Given the description of an element on the screen output the (x, y) to click on. 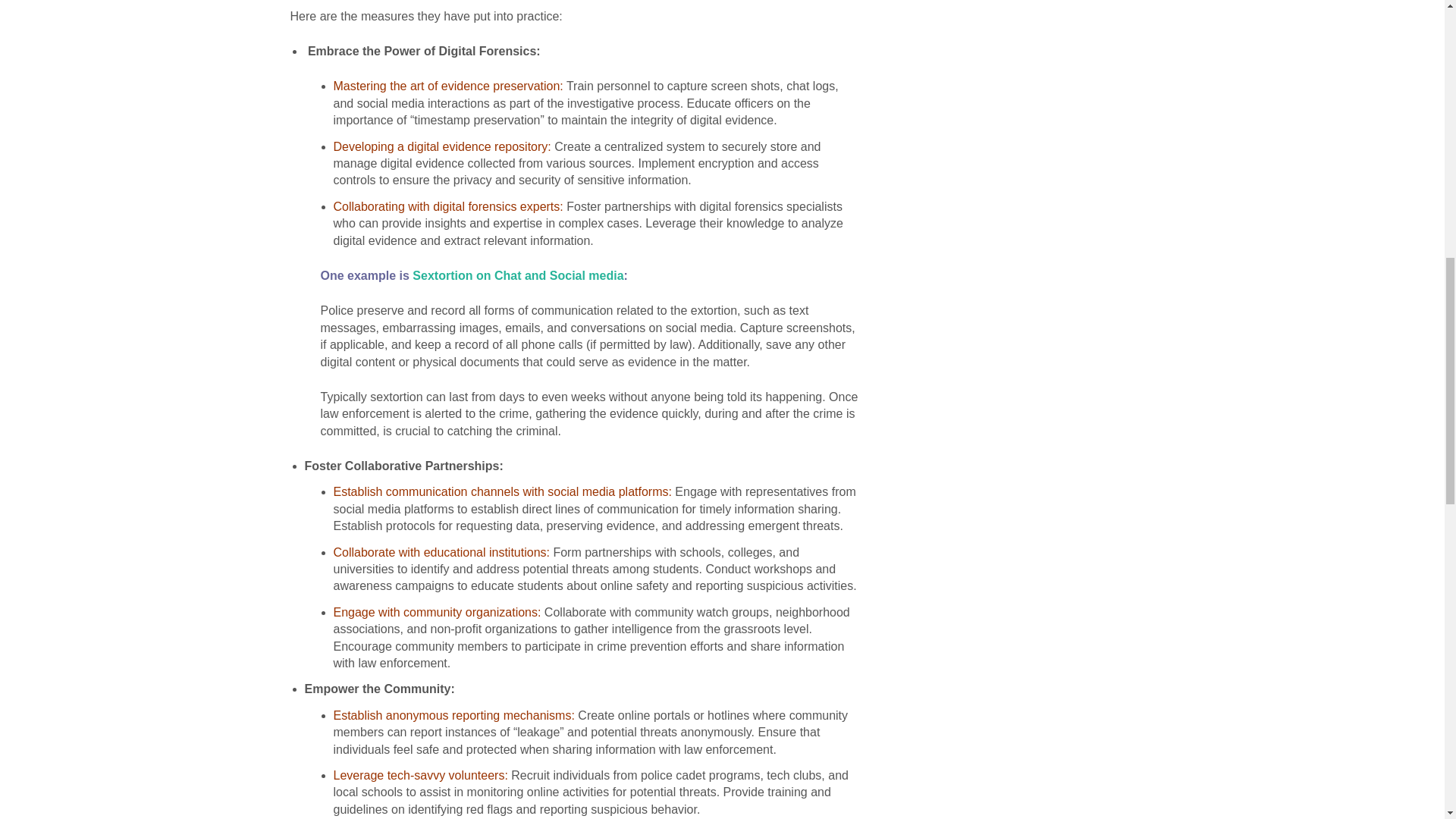
Sextortion on Chat and Social media (517, 275)
